Given the description of an element on the screen output the (x, y) to click on. 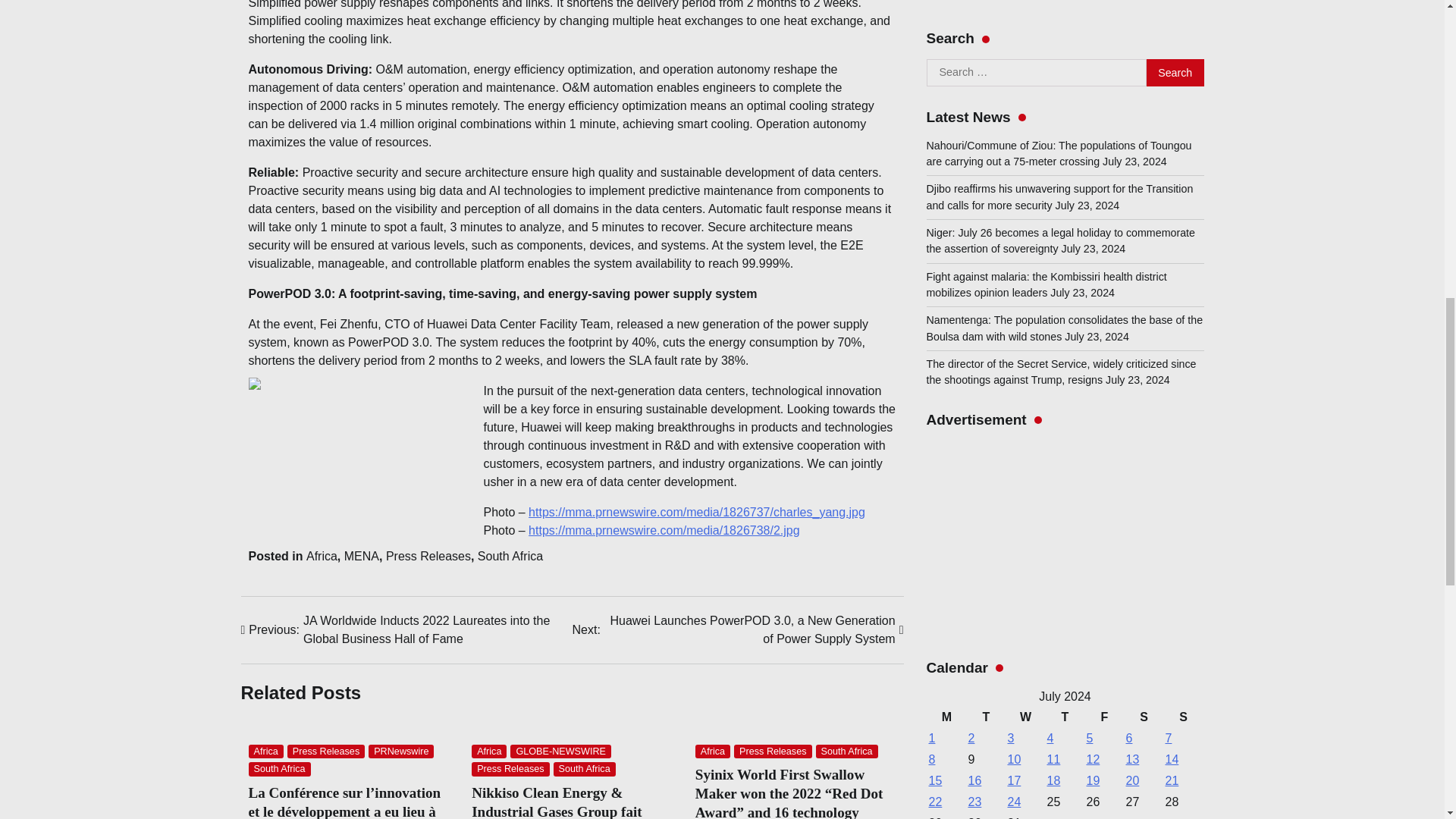
MENA (360, 555)
Press Releases (509, 769)
Thursday (1065, 107)
Press Releases (427, 555)
Africa (321, 555)
Press Releases (771, 751)
Friday (1105, 107)
South Africa (510, 555)
PRNewswire (400, 751)
Wednesday (1026, 107)
Sunday (1183, 107)
Africa (712, 751)
South Africa (584, 769)
Africa (488, 751)
